Given the description of an element on the screen output the (x, y) to click on. 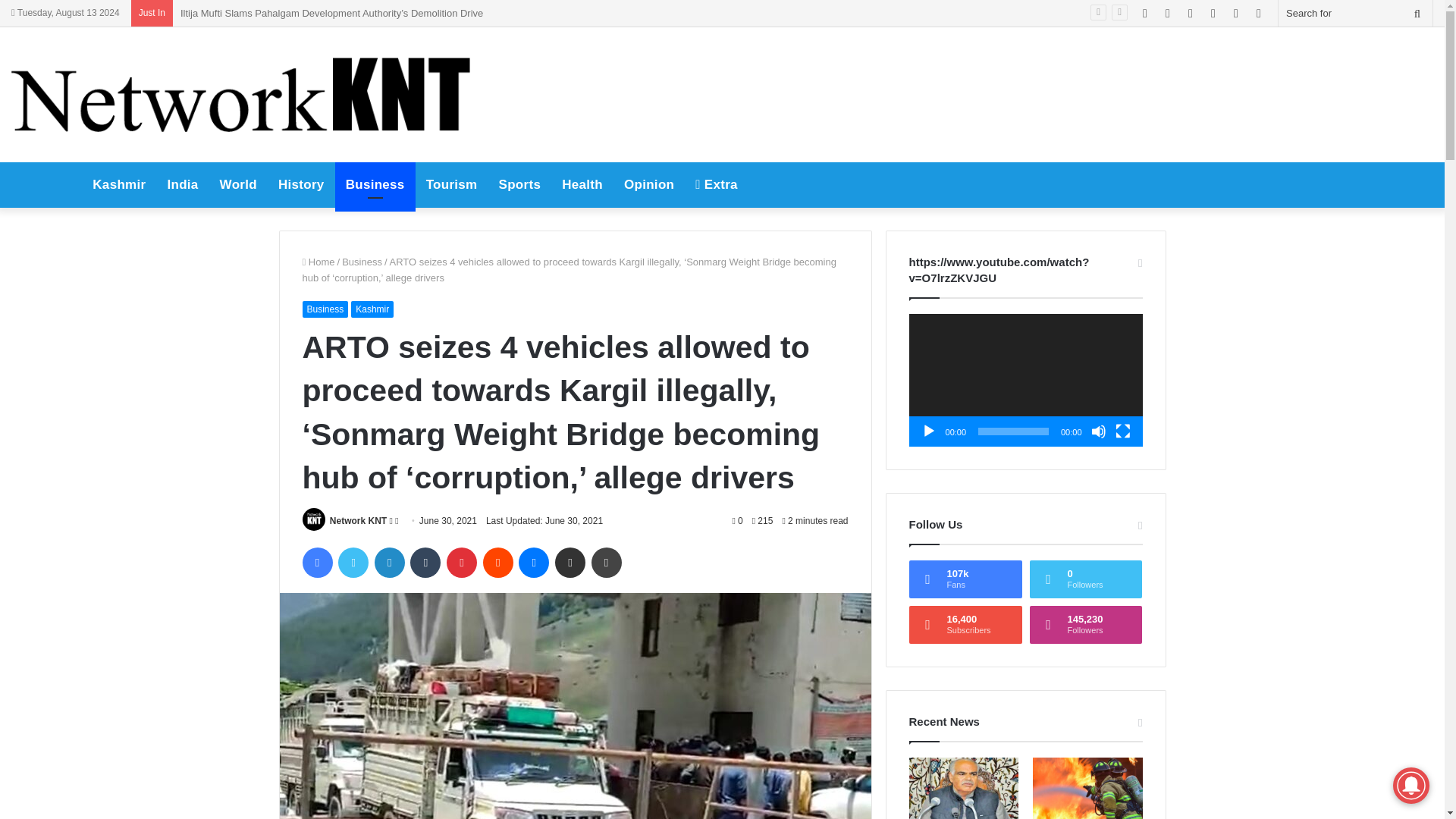
Business (361, 261)
Twitter (352, 562)
India (181, 185)
Pinterest (461, 562)
Kashmir (118, 185)
Facebook (316, 562)
Extra (716, 185)
Tourism (450, 185)
Search for (1355, 13)
Tumblr (425, 562)
